Given the description of an element on the screen output the (x, y) to click on. 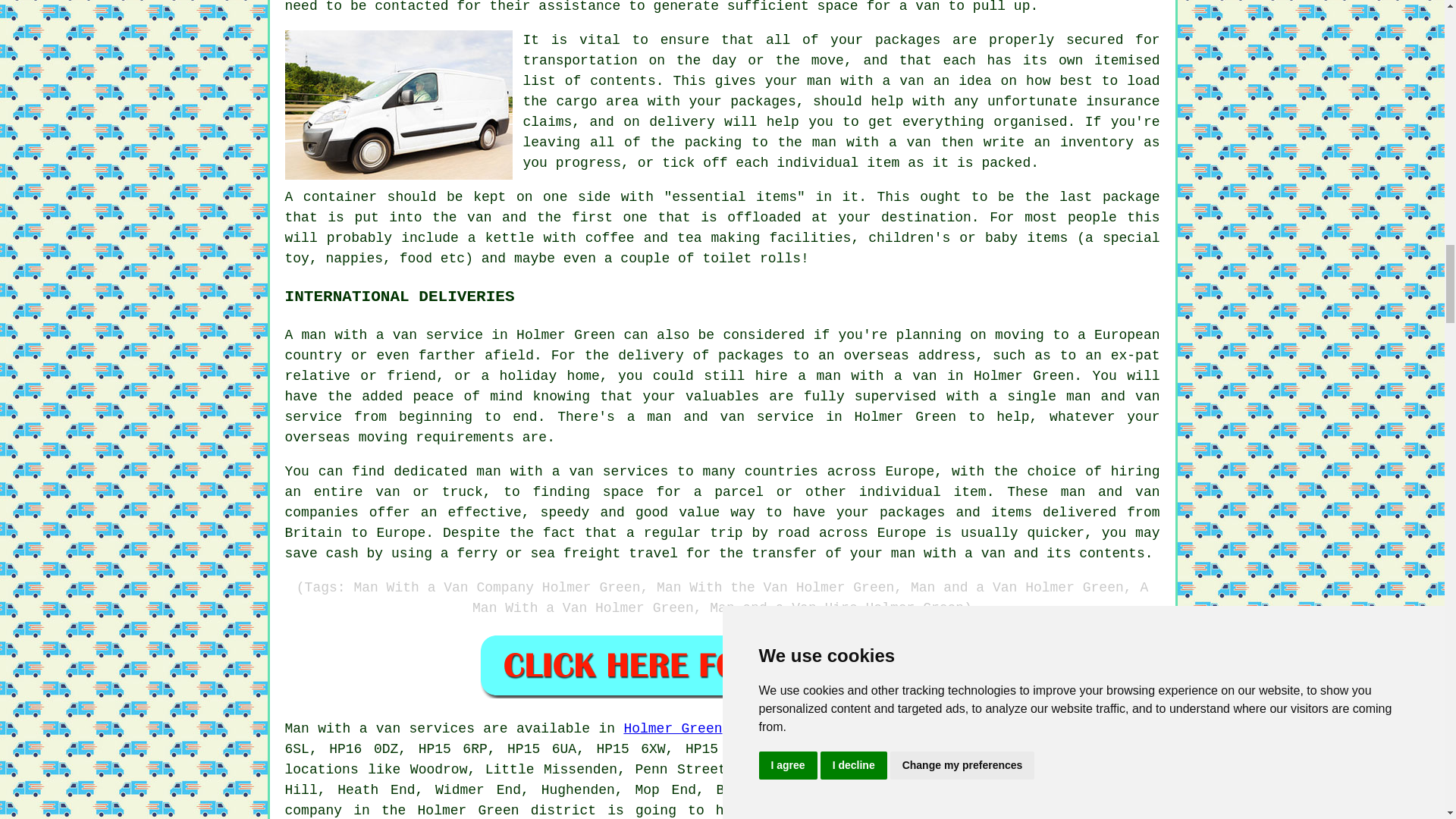
Man and Van Holmer Green (398, 104)
Book a Man and Van Holmer Green (722, 665)
Man with a van (343, 728)
